Given the description of an element on the screen output the (x, y) to click on. 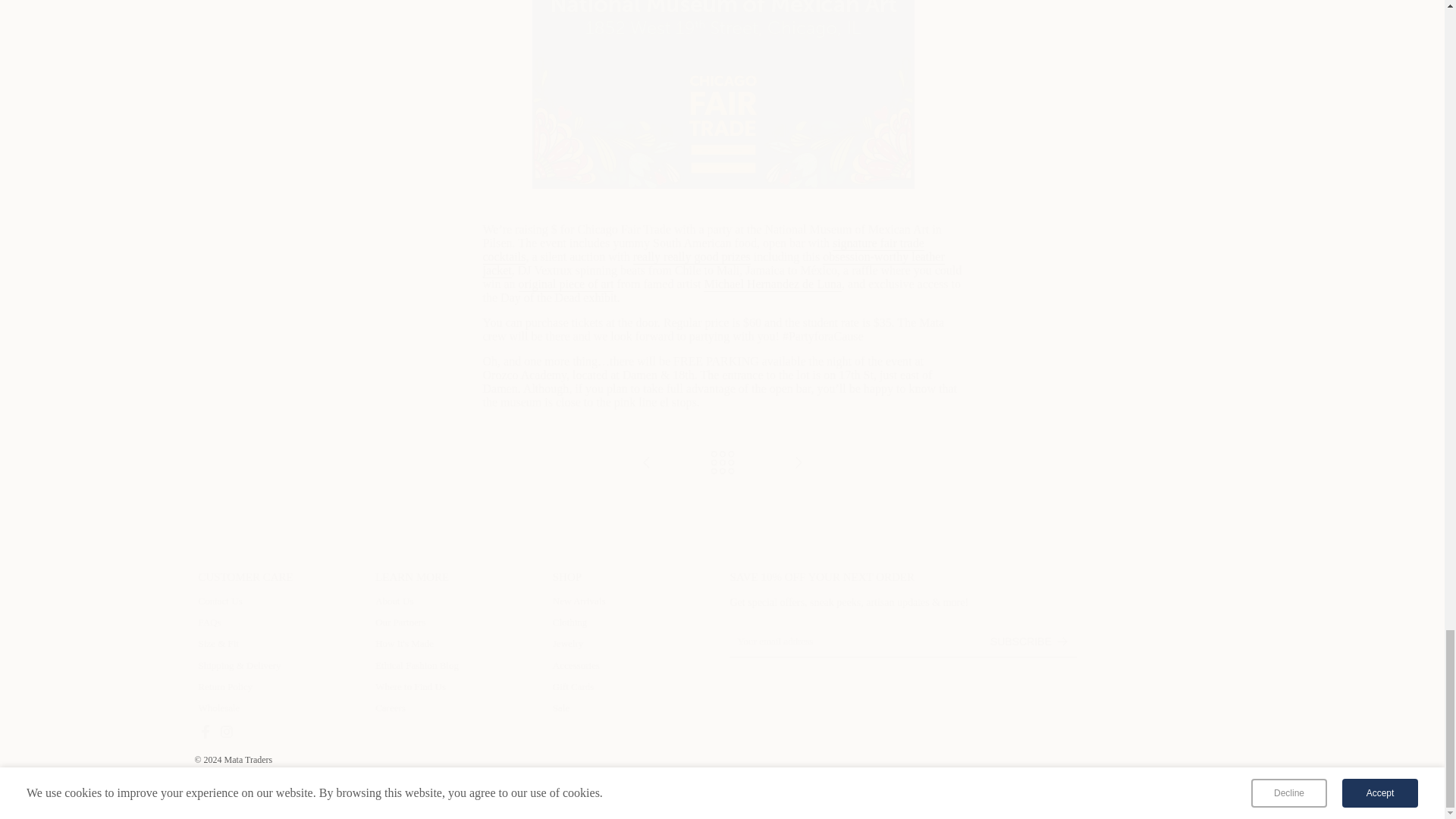
SHOOT FOR THE MOON (646, 463)
Back to Ethical Fashion Blog (722, 463)
